Given the description of an element on the screen output the (x, y) to click on. 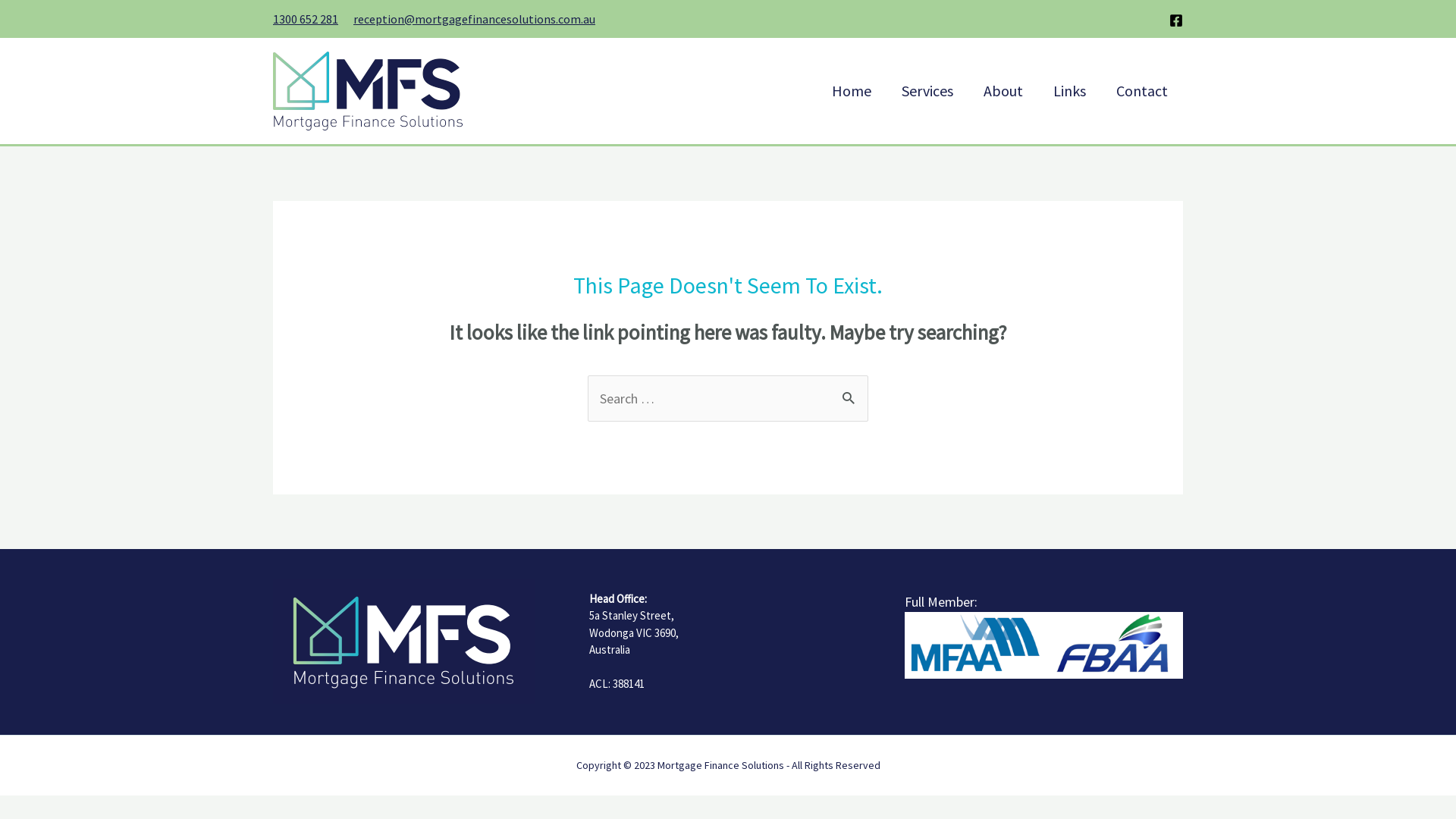
Contact Element type: text (1142, 89)
Services Element type: text (927, 89)
About Element type: text (1003, 89)
reception@mortgagefinancesolutions.com.au Element type: text (474, 18)
1300 652 281 Element type: text (305, 18)
Links Element type: text (1069, 89)
Search Element type: text (851, 389)
Home Element type: text (851, 89)
